Given the description of an element on the screen output the (x, y) to click on. 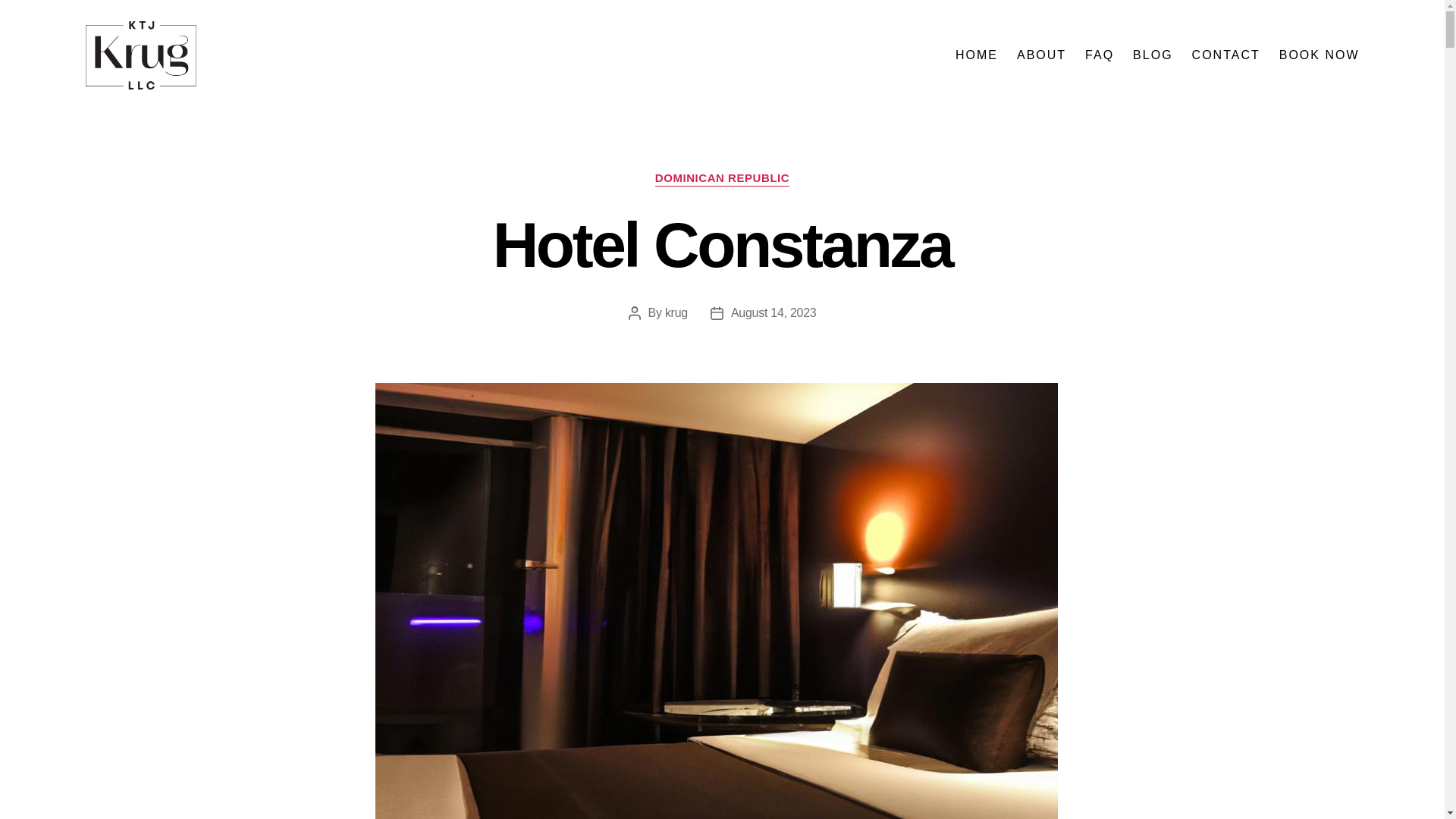
FAQ (1098, 54)
BLOG (1152, 54)
BOOK NOW (1319, 54)
CONTACT (1226, 54)
DOMINICAN REPUBLIC (722, 178)
August 14, 2023 (773, 312)
krug (676, 312)
ABOUT (1040, 54)
HOME (976, 54)
